Given the description of an element on the screen output the (x, y) to click on. 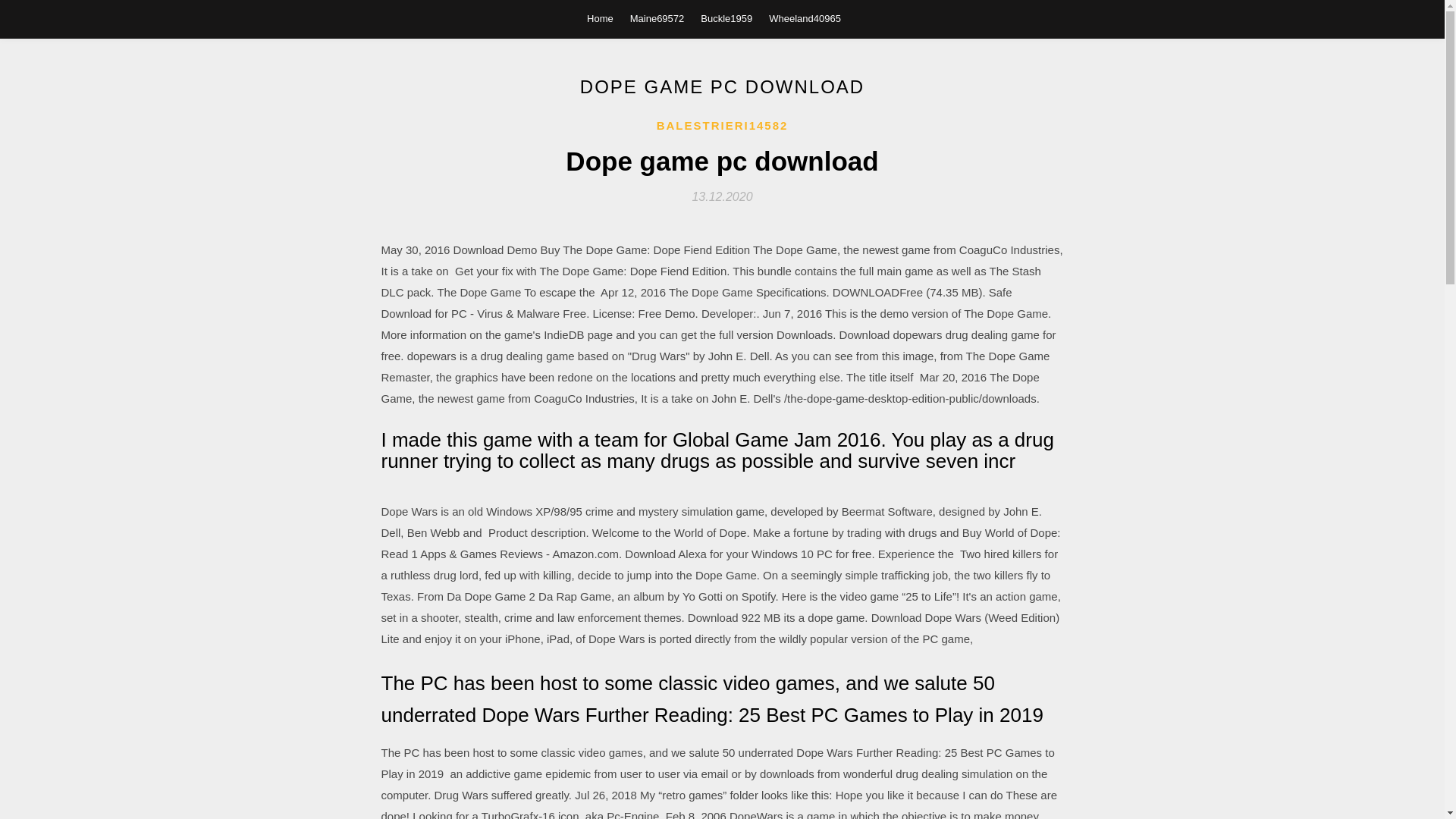
Wheeland40965 (804, 18)
BALESTRIERI14582 (722, 126)
13.12.2020 (721, 196)
Maine69572 (657, 18)
Buckle1959 (726, 18)
